Given the description of an element on the screen output the (x, y) to click on. 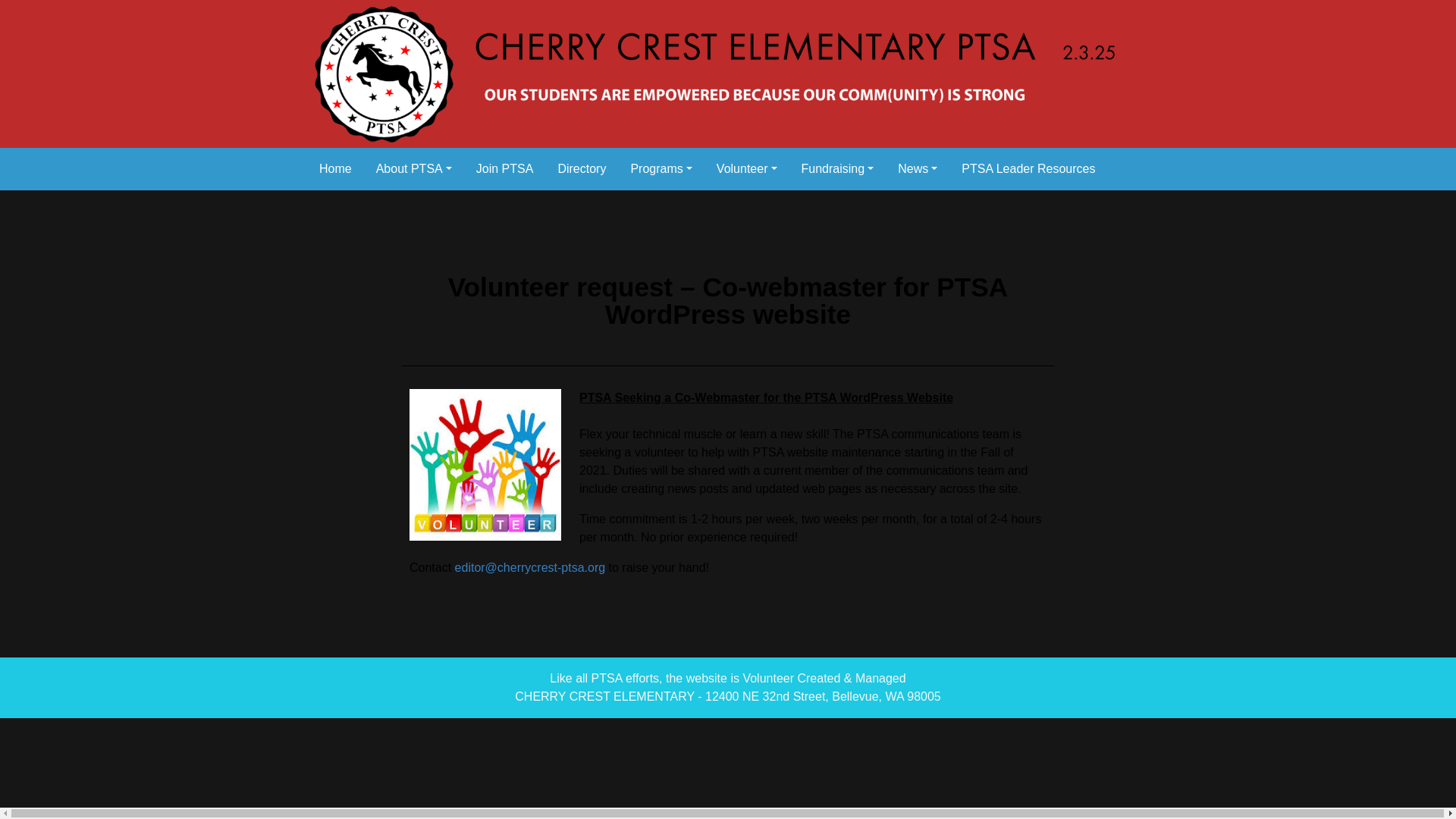
Home (335, 169)
Join PTSA (505, 169)
News (917, 169)
About PTSA (414, 169)
Join PTSA (505, 169)
Directory (580, 169)
Directory (580, 169)
About PTSA (414, 169)
Programs (660, 169)
Fundraising (837, 169)
Programs (660, 169)
Home (335, 169)
Volunteer (746, 169)
